Given the description of an element on the screen output the (x, y) to click on. 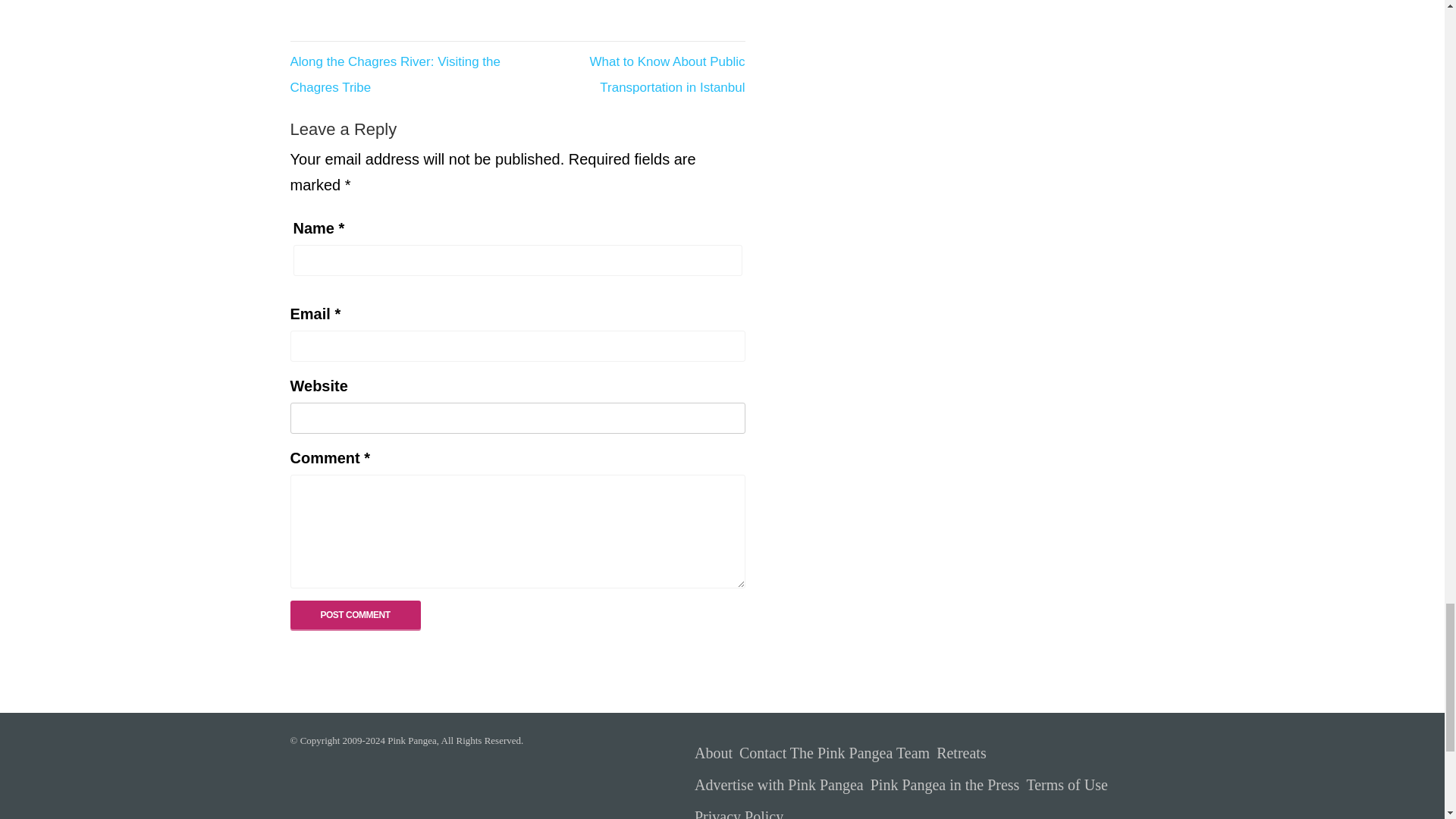
Post Comment (354, 614)
